Given the description of an element on the screen output the (x, y) to click on. 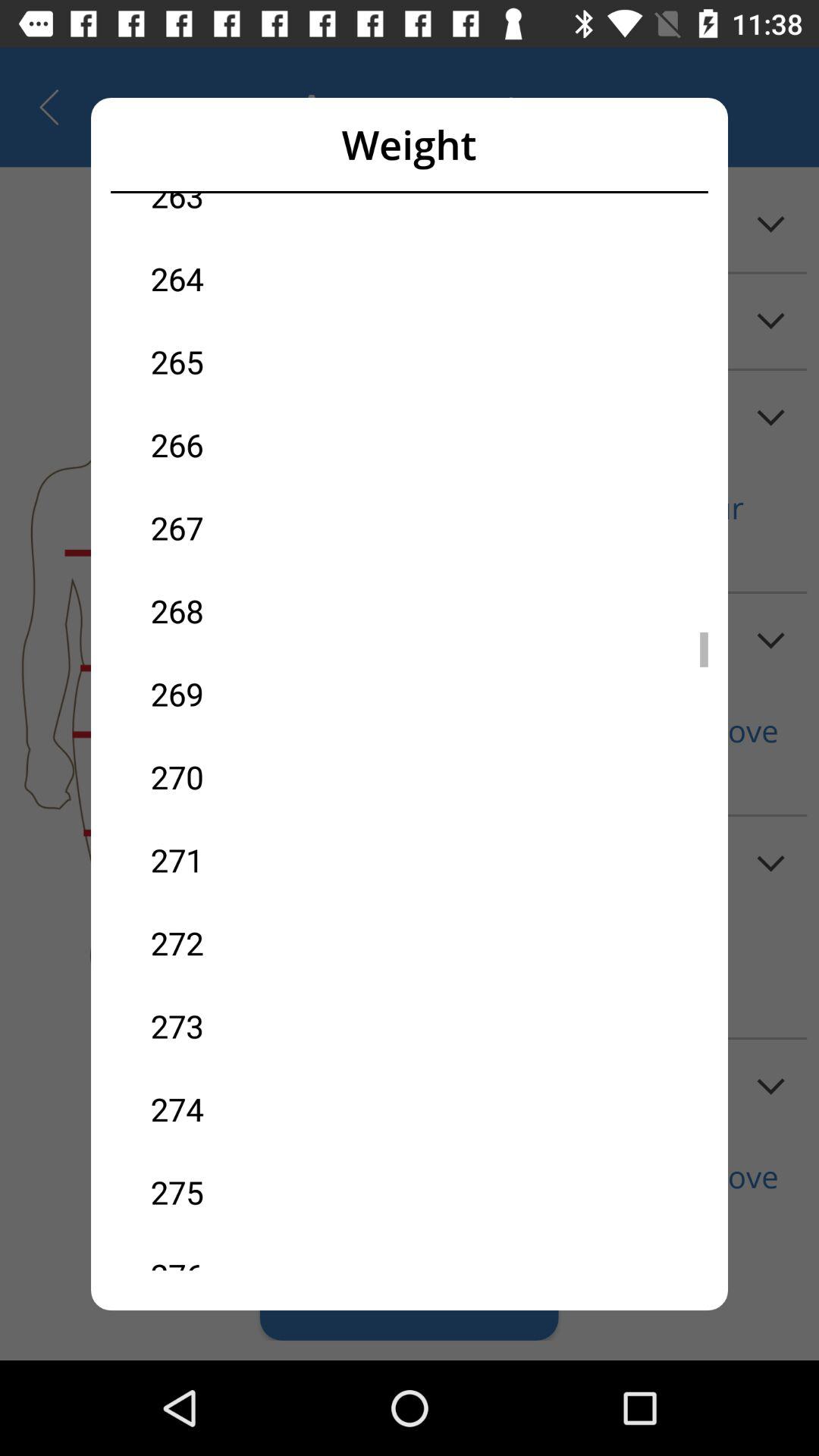
press 265 icon (279, 361)
